Given the description of an element on the screen output the (x, y) to click on. 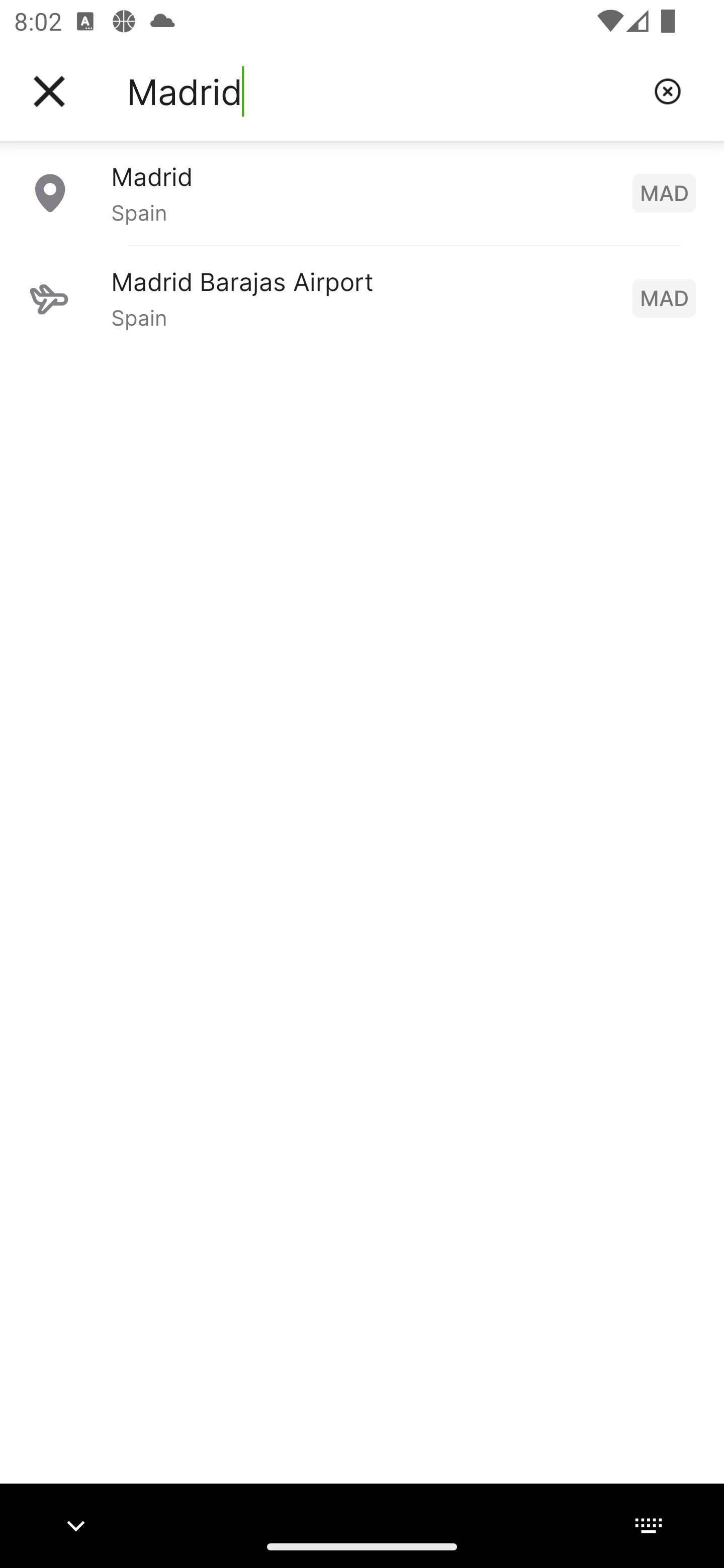
Madrid (382, 91)
Madrid Spain MAD (362, 192)
Madrid Barajas Airport Spain MAD (362, 297)
